Given the description of an element on the screen output the (x, y) to click on. 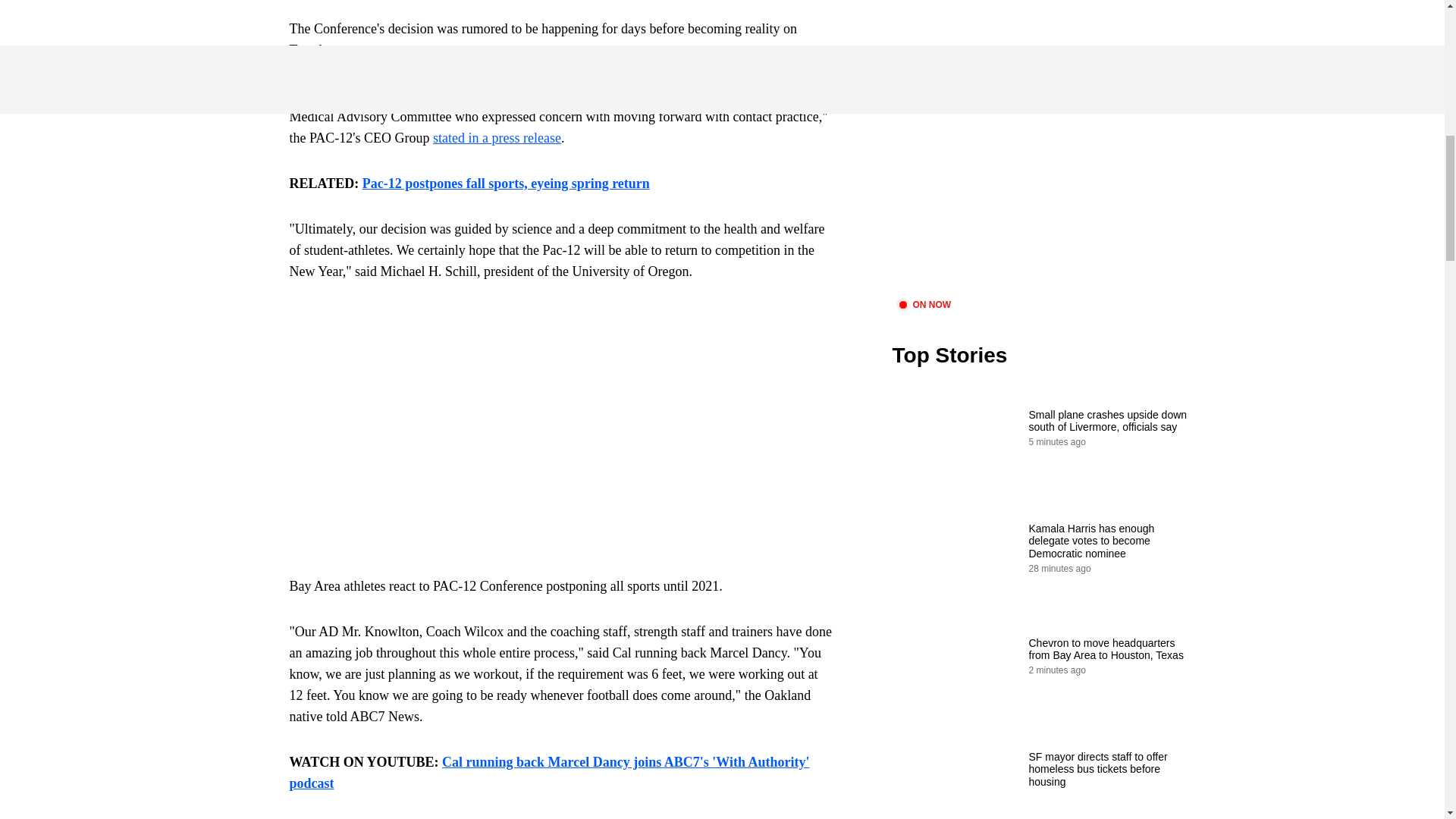
video.title (1043, 208)
